Given the description of an element on the screen output the (x, y) to click on. 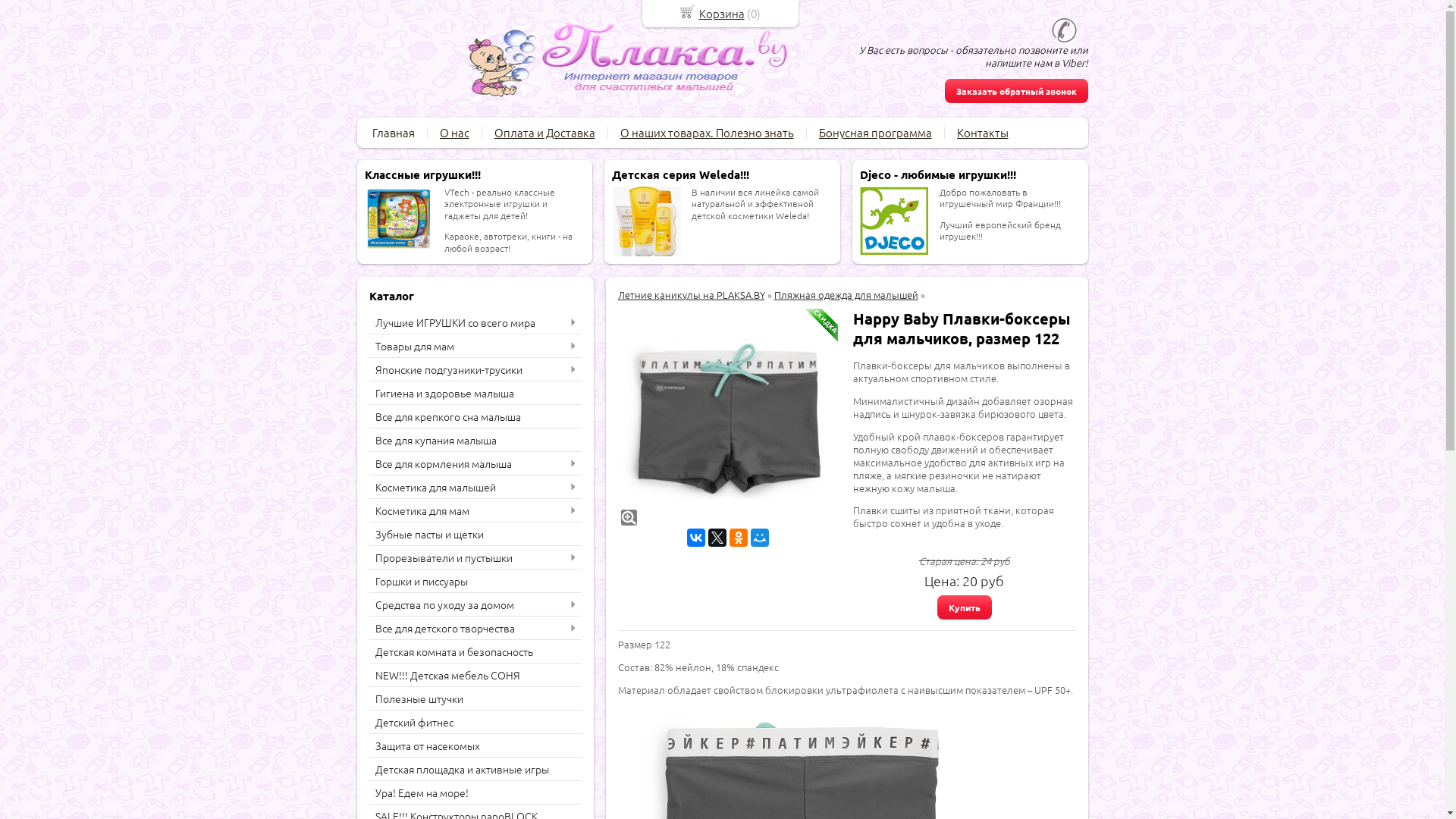
Twitter Element type: hover (717, 537)
